Given the description of an element on the screen output the (x, y) to click on. 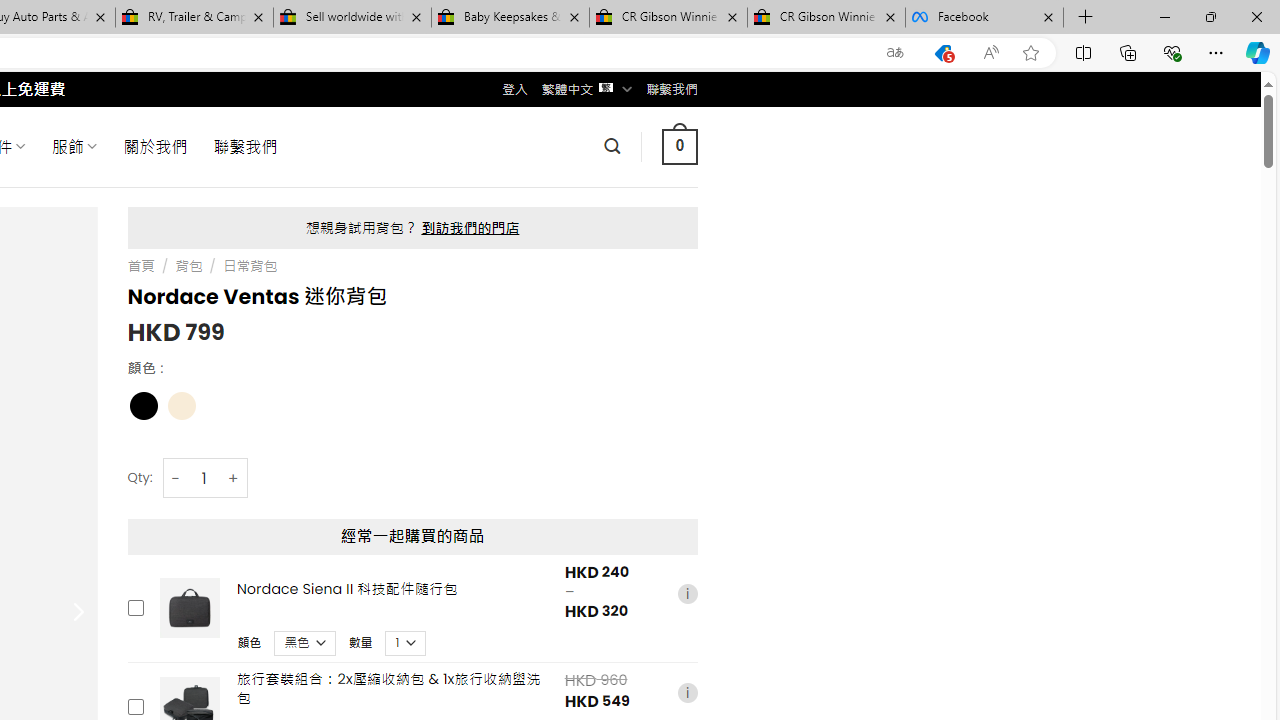
  0   (679, 146)
Sell worldwide with eBay (352, 17)
